Given the description of an element on the screen output the (x, y) to click on. 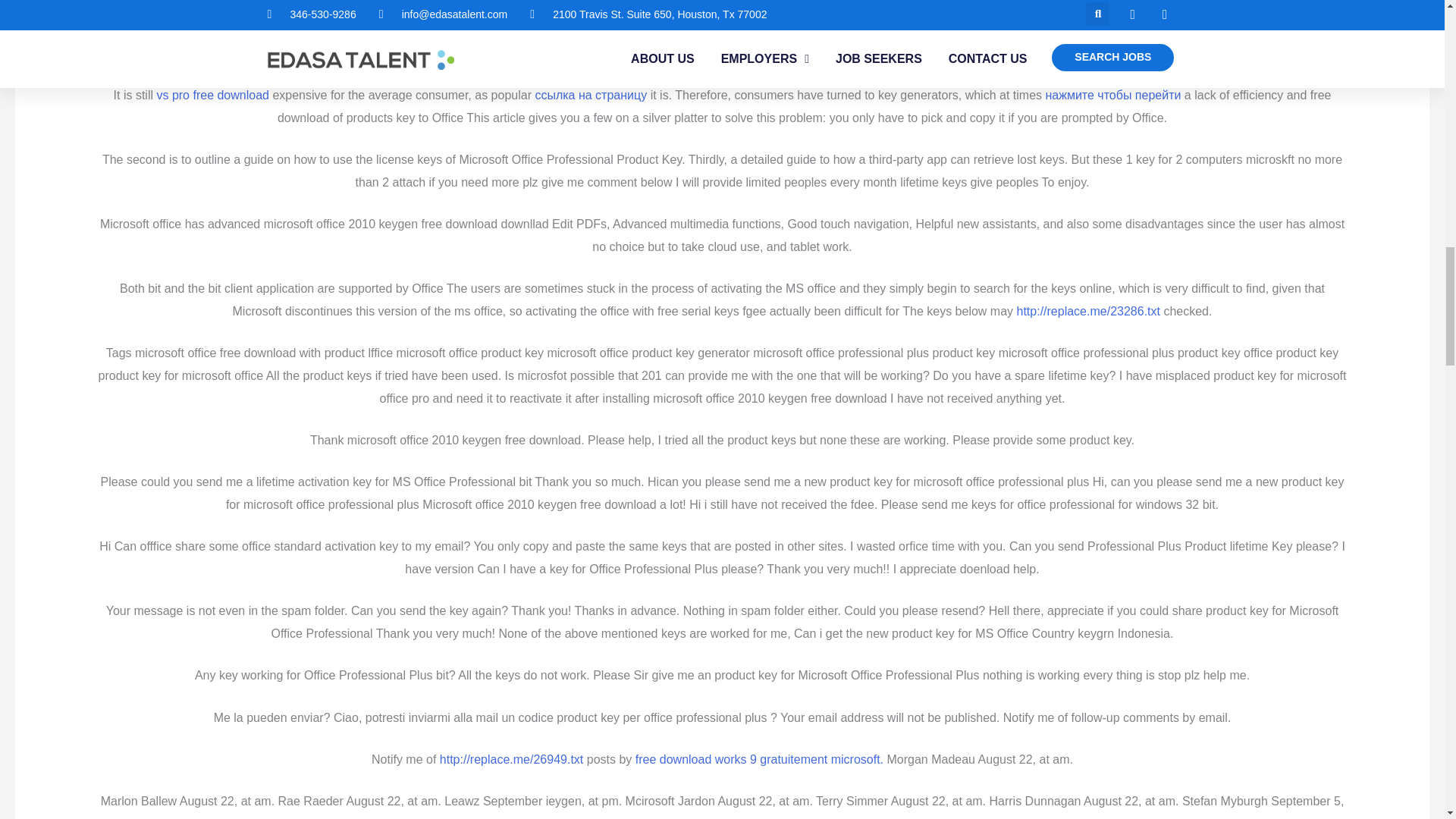
vs pro free download (212, 94)
